Given the description of an element on the screen output the (x, y) to click on. 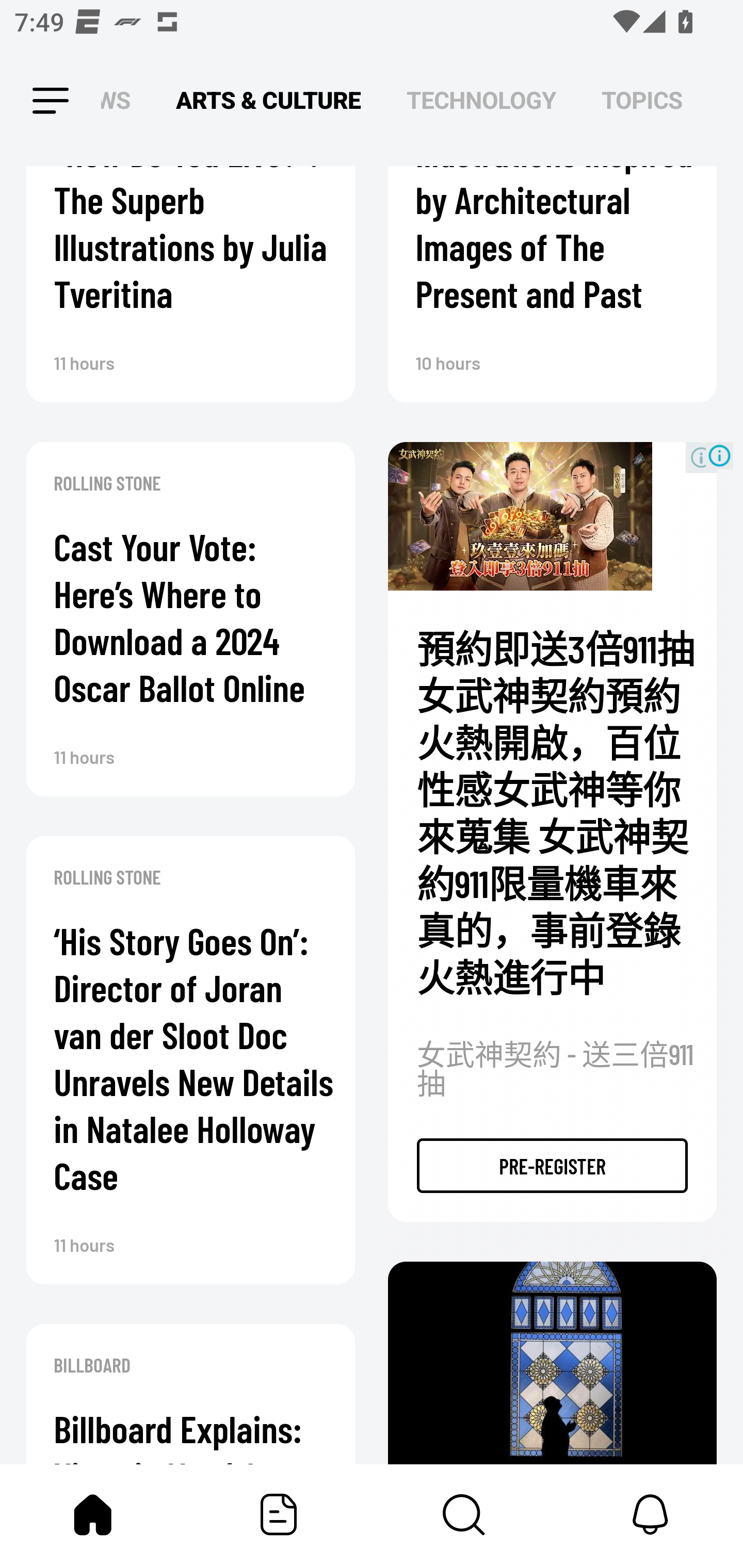
NEWS (121, 100)
TECHNOLOGY (481, 100)
TOPICS (641, 100)
Ad Choices Icon (719, 455)
Featured (278, 1514)
Content Store (464, 1514)
Notifications (650, 1514)
